Given the description of an element on the screen output the (x, y) to click on. 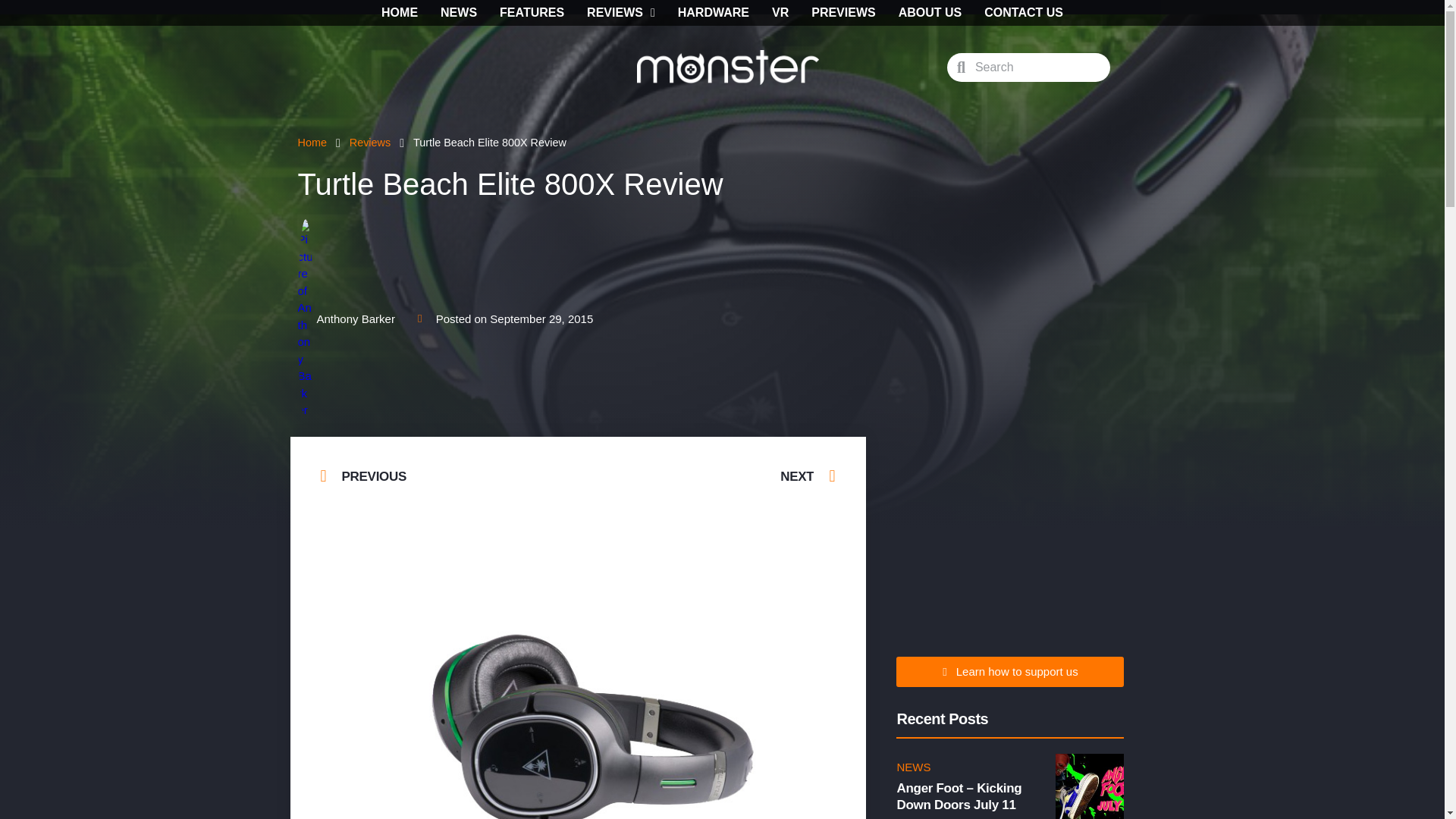
Advertisement (577, 540)
Advertisement (1010, 531)
